Given the description of an element on the screen output the (x, y) to click on. 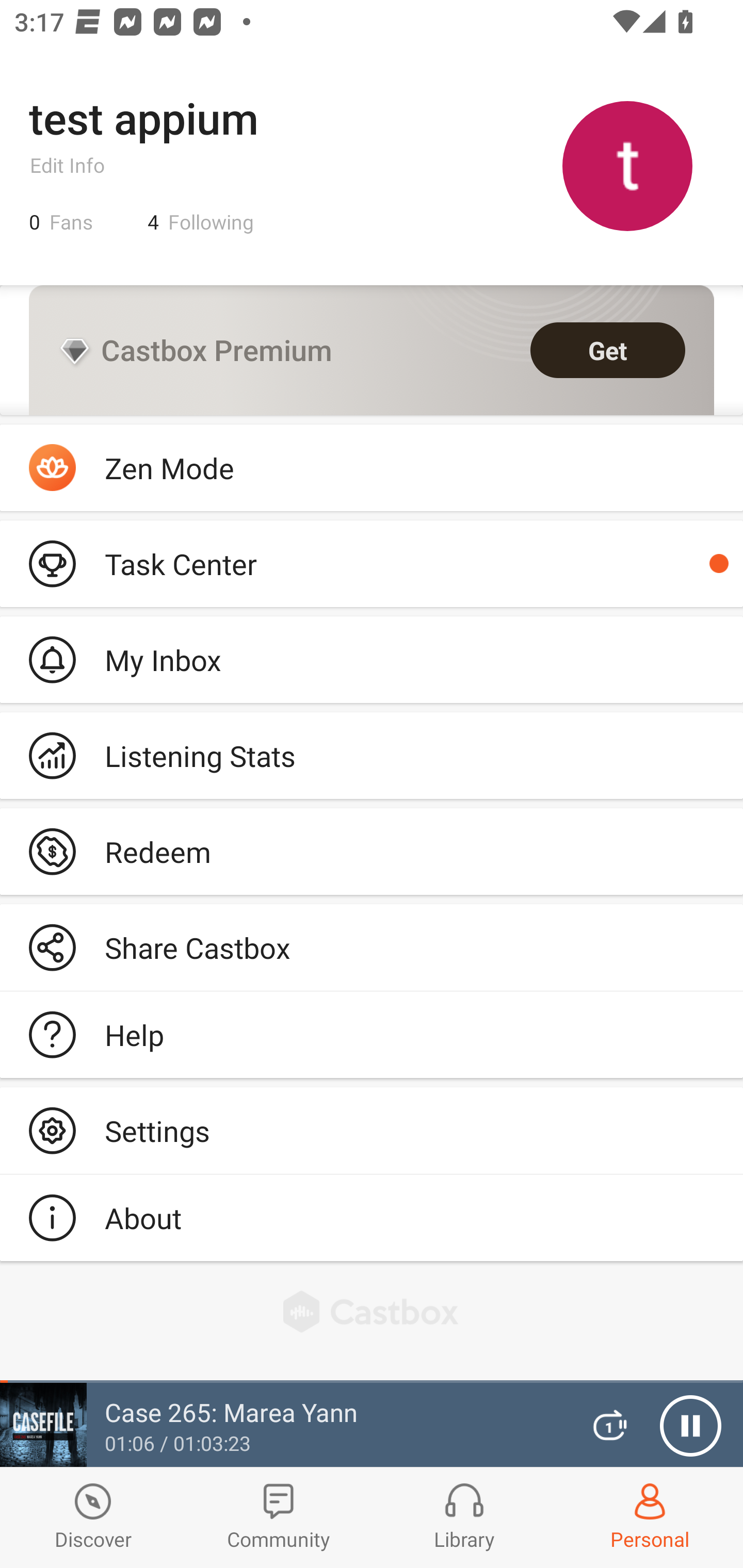
test appium Edit Info 0 Fans 4 Following (371, 165)
0 Fans (60, 221)
4 Following (200, 221)
Castbox Premium Get (371, 350)
Get (607, 350)
Zen Mode (371, 467)
Podcaster  Task Center (371, 563)
 My Inbox (371, 659)
 Listening Stats (371, 755)
 Redeem (371, 851)
 Share Castbox (371, 947)
 Help (371, 1034)
 Settings (371, 1130)
 About (371, 1217)
Case 265: Marea Yann 01:06 / 01:03:23 (283, 1424)
Pause (690, 1425)
Discover (92, 1517)
Community (278, 1517)
Library (464, 1517)
Profiles and Settings Personal (650, 1517)
